Given the description of an element on the screen output the (x, y) to click on. 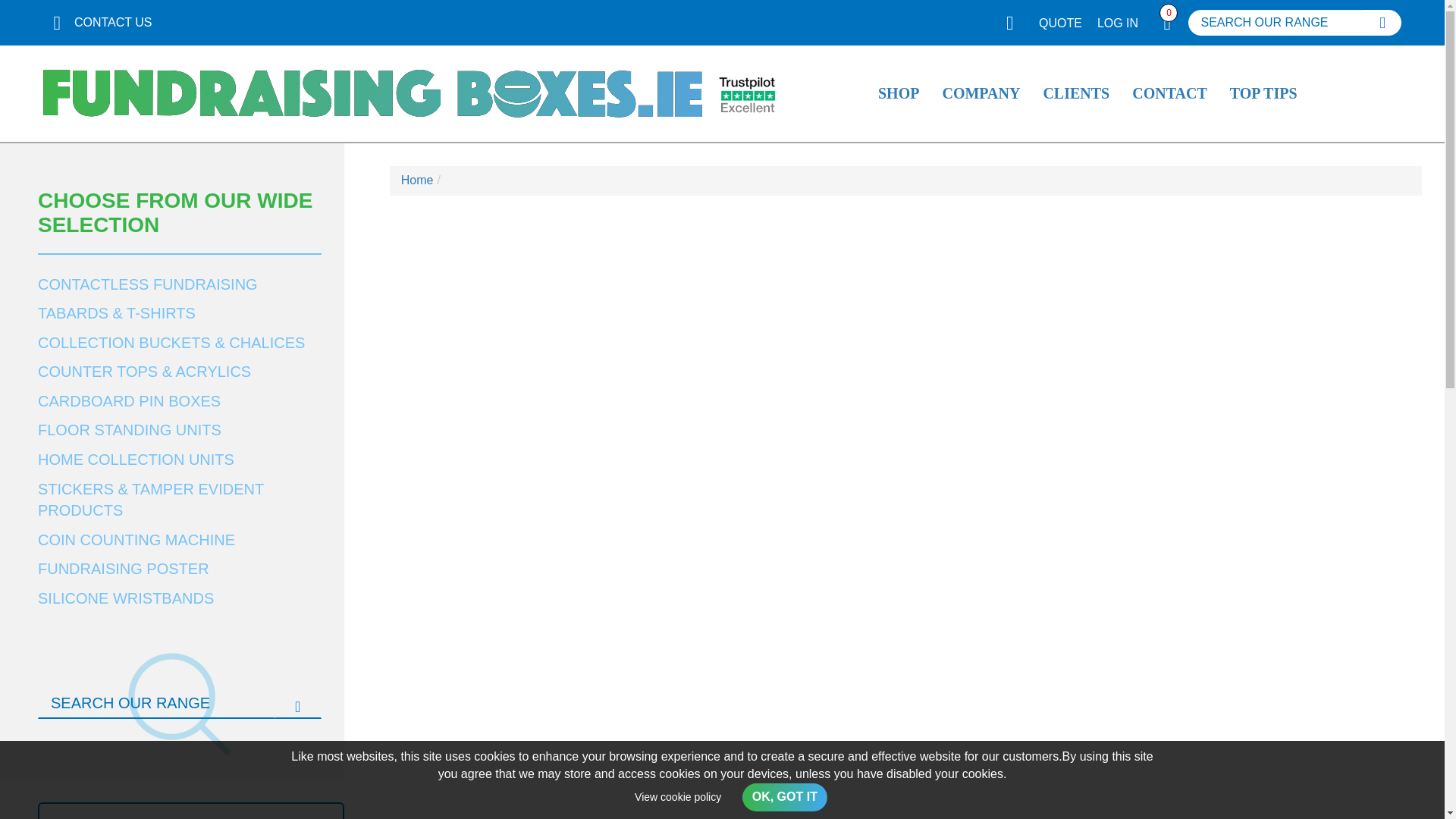
COMPANY (980, 93)
Shop (898, 93)
telephone number (97, 22)
Fundraising Boxes (372, 92)
Quote (1060, 22)
CONTACT US (97, 22)
LOG IN (1117, 22)
SHOP (898, 93)
Log In (1117, 22)
CONTACT (1169, 93)
Clients (1075, 93)
Fundraising Boxes (372, 92)
CLIENTS (1075, 93)
TOP TIPS (1263, 93)
CONTACTLESS FUNDRAISING (179, 284)
